Given the description of an element on the screen output the (x, y) to click on. 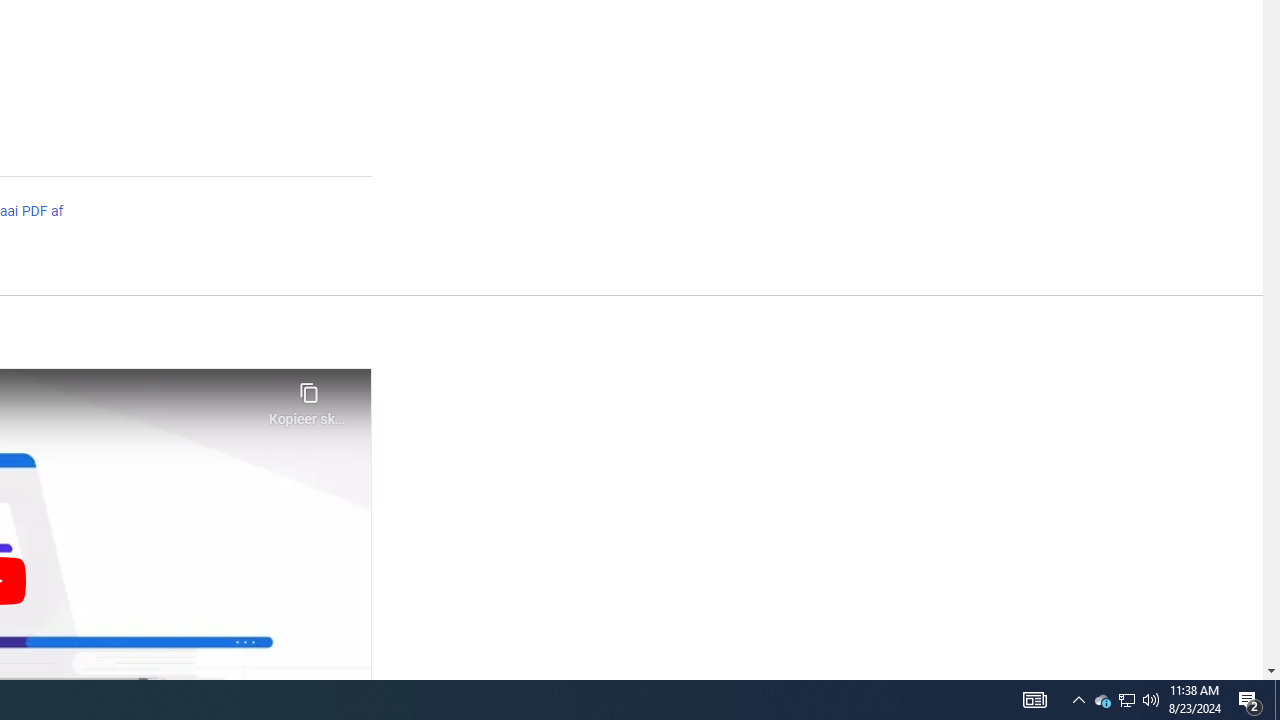
Kopieer skakel (308, 398)
